Given the description of an element on the screen output the (x, y) to click on. 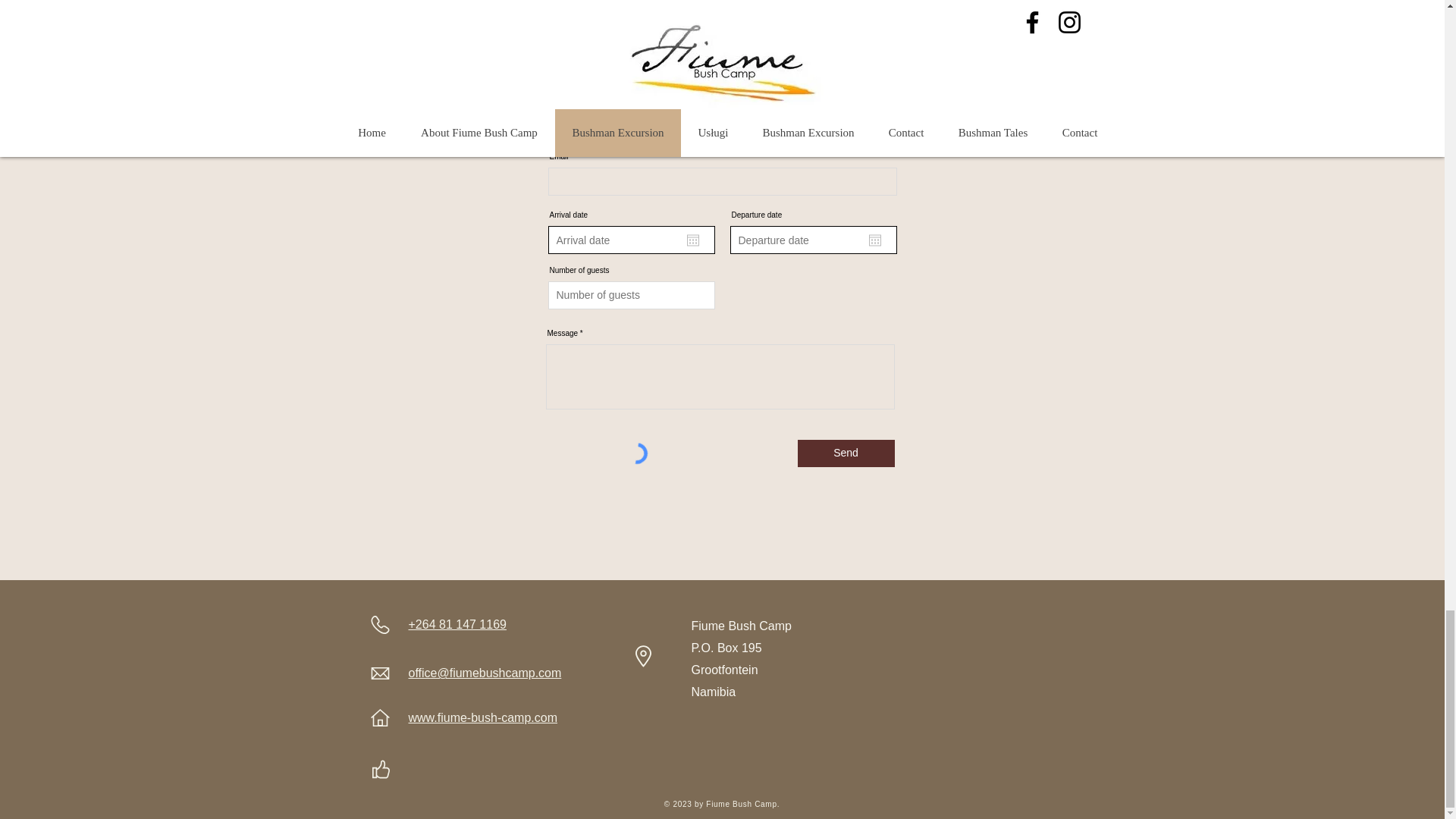
Send (846, 452)
www.fiume-bush-camp.com (482, 717)
